Given the description of an element on the screen output the (x, y) to click on. 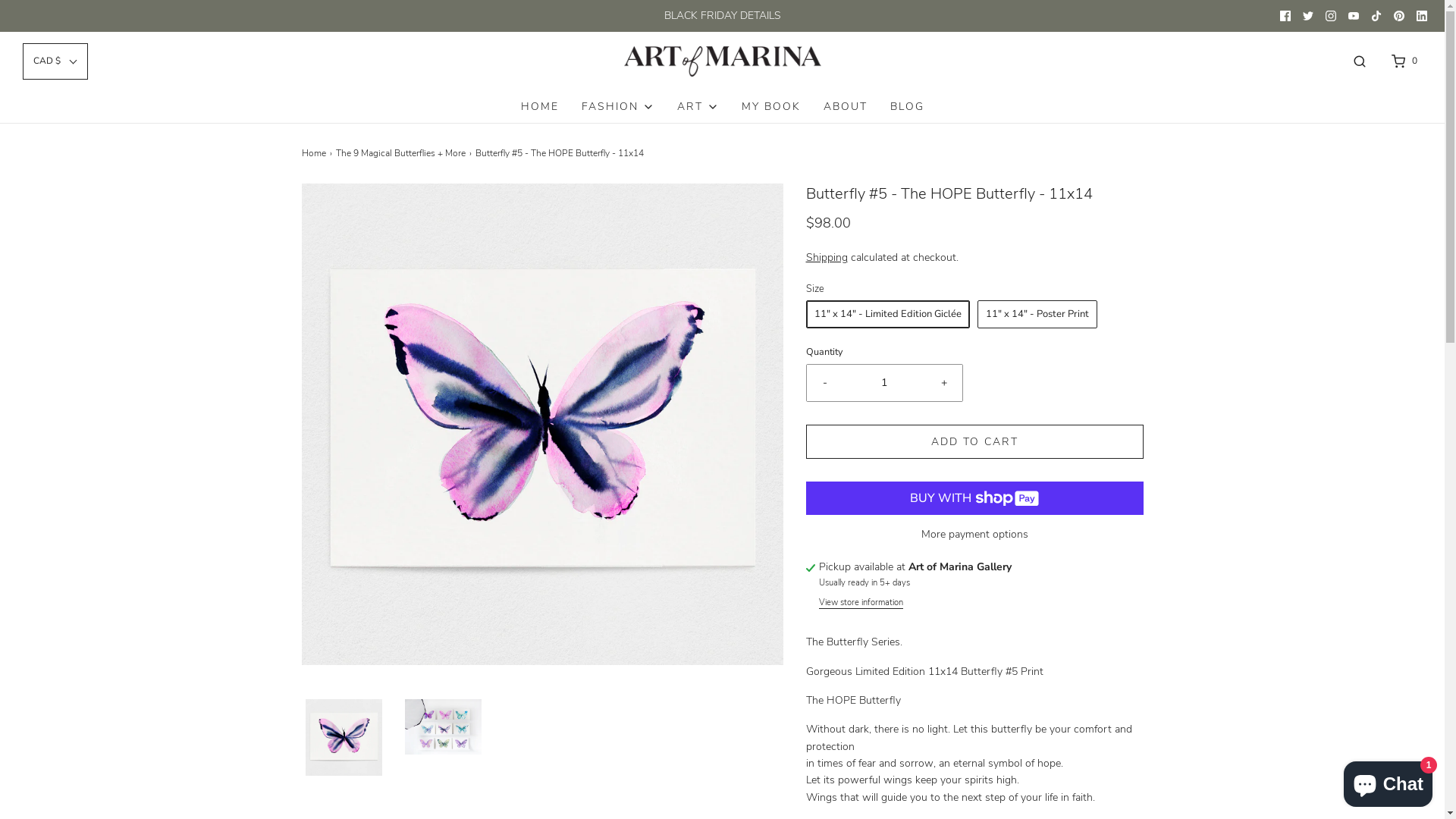
Search Element type: hover (1359, 61)
- Element type: text (825, 382)
The 9 Magical Butterflies + More Element type: text (401, 153)
+ Element type: text (943, 382)
FASHION Element type: text (616, 106)
CAD $ Element type: text (54, 60)
Twitter icon Element type: text (1307, 15)
Pinterest icon Element type: text (1398, 15)
BLOG Element type: text (907, 106)
TikTok icon Element type: text (1376, 15)
Instagram icon Element type: text (1330, 15)
MY BOOK Element type: text (770, 106)
0 Element type: text (1402, 61)
View store information Element type: text (861, 602)
Home Element type: text (315, 153)
LinkedIn icon Element type: text (1421, 15)
ADD TO CART Element type: text (973, 441)
Shopify online store chat Element type: hover (1388, 780)
ABOUT Element type: text (845, 106)
YouTube icon Element type: text (1353, 15)
Facebook icon Element type: text (1285, 15)
More payment options Element type: text (973, 534)
ART Element type: text (697, 106)
Shipping Element type: text (826, 257)
HOME Element type: text (539, 106)
